Given the description of an element on the screen output the (x, y) to click on. 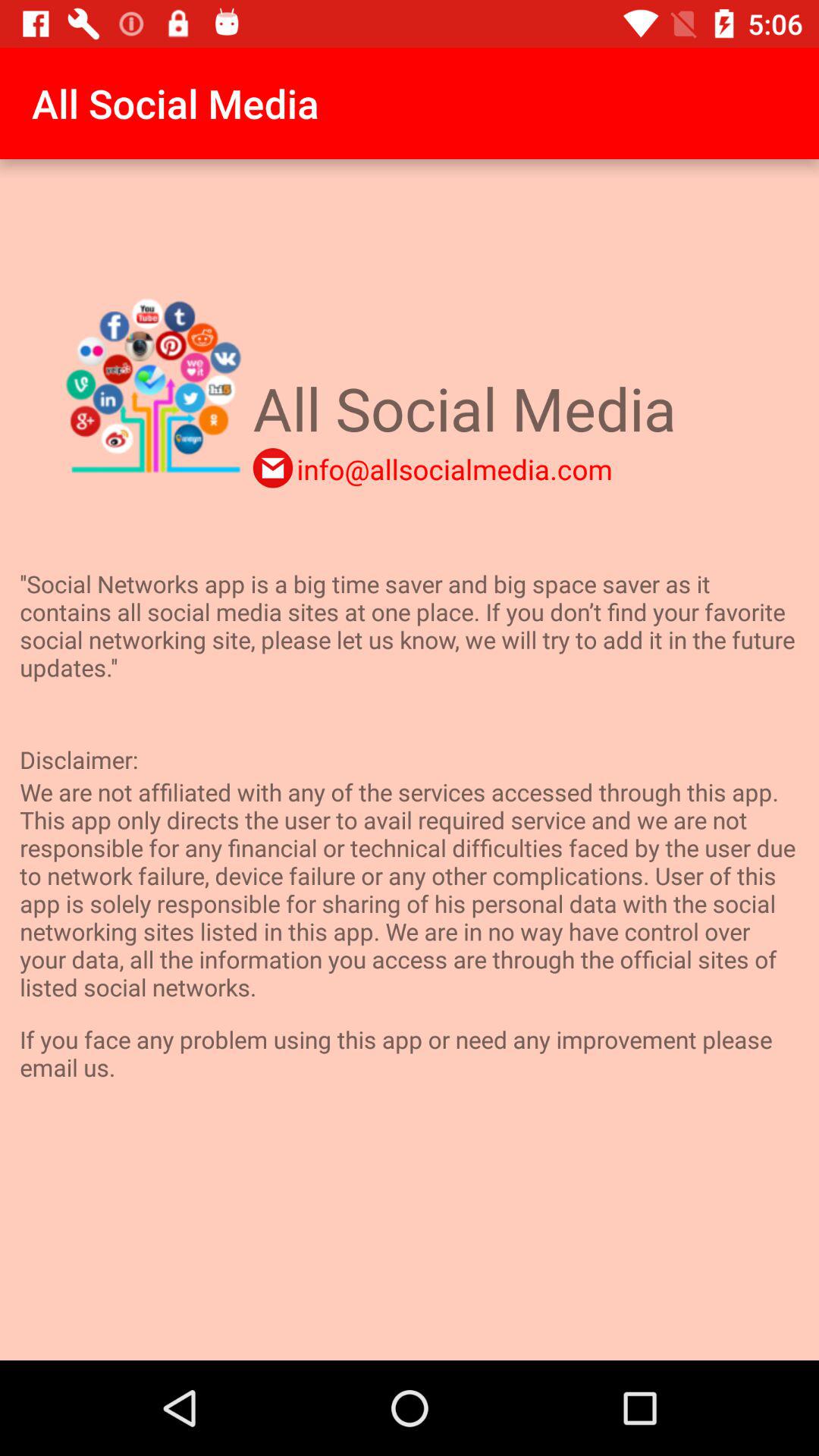
create new email (272, 467)
